Given the description of an element on the screen output the (x, y) to click on. 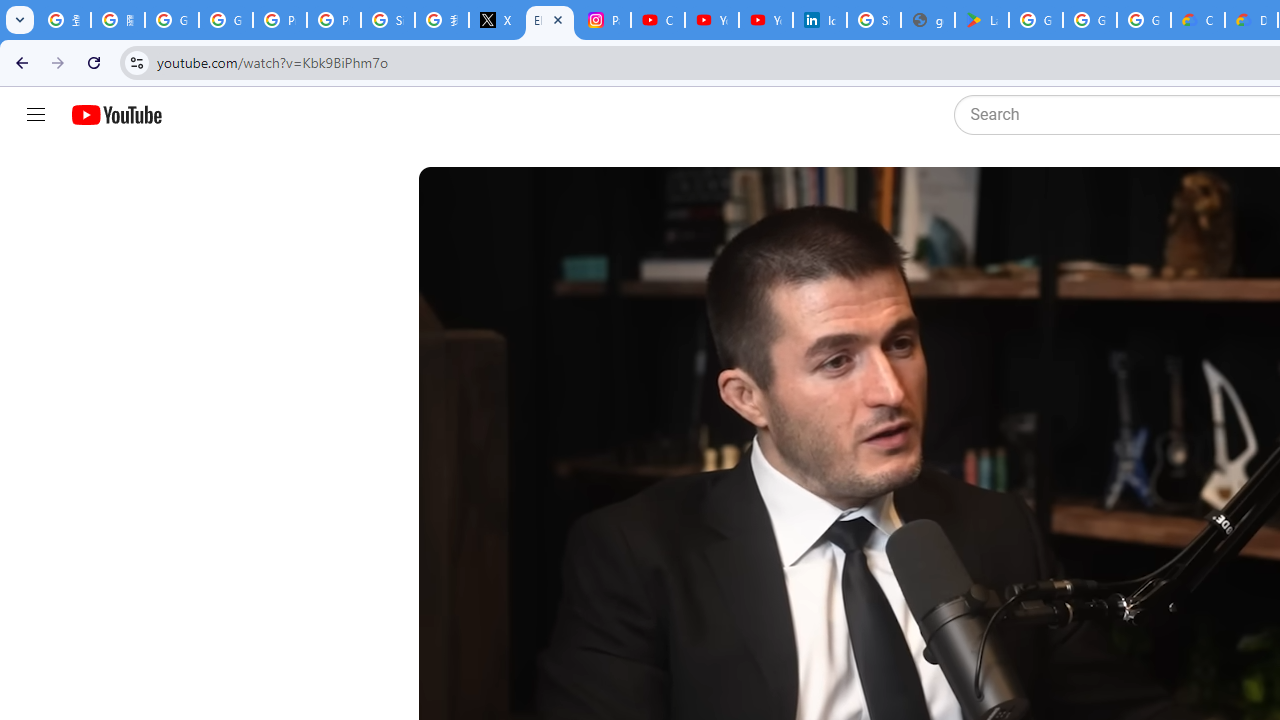
X (495, 20)
Last Shelter: Survival - Apps on Google Play (981, 20)
Sign in - Google Accounts (387, 20)
YouTube Culture & Trends - YouTube Top 10, 2021 (765, 20)
Google Workspace - Specific Terms (1144, 20)
Sign in - Google Accounts (874, 20)
YouTube Home (116, 115)
